Given the description of an element on the screen output the (x, y) to click on. 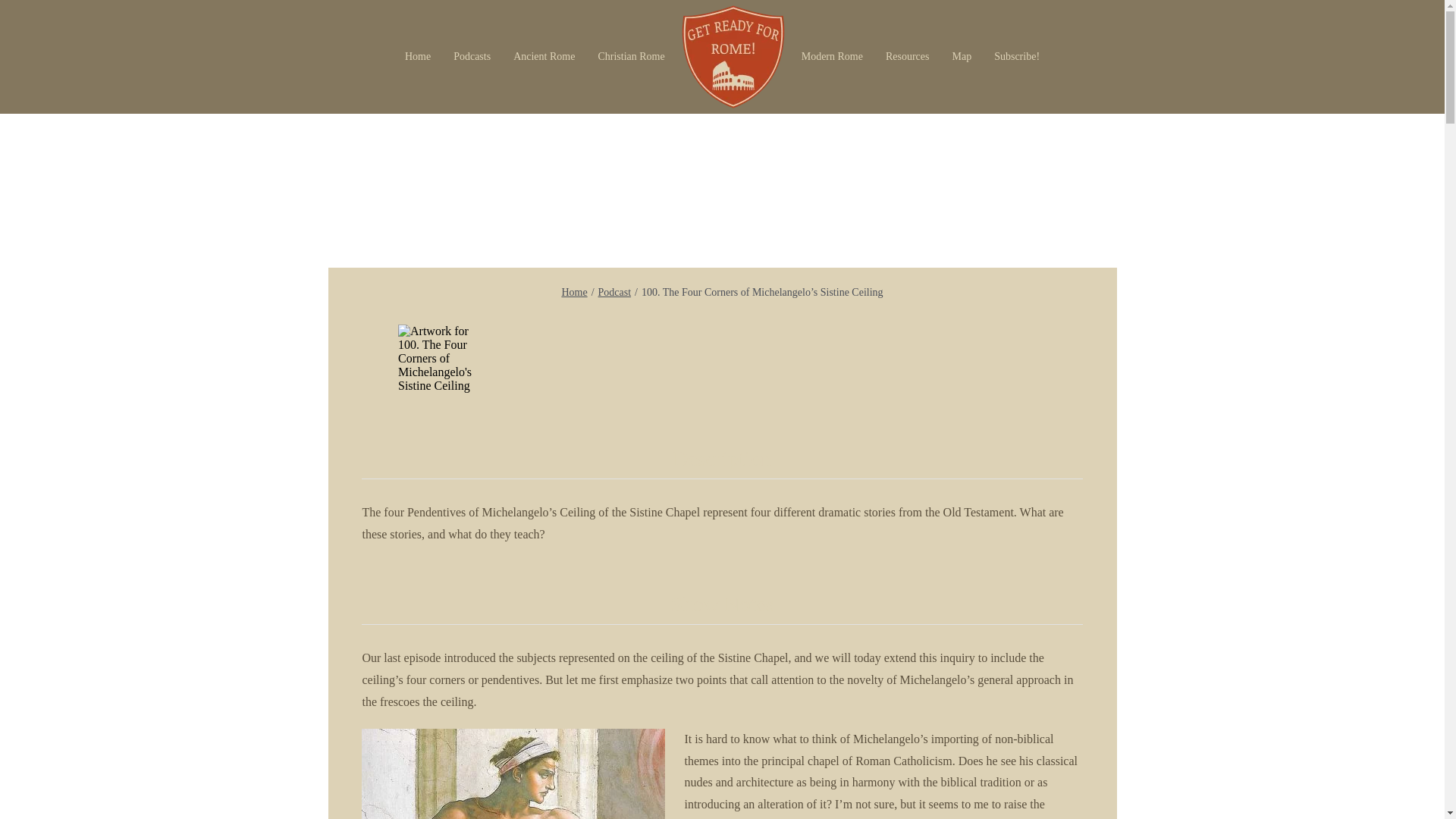
Map (961, 56)
Libsyn Player (721, 358)
Subscribe! (1016, 56)
Resources (907, 56)
Christian Rome (630, 56)
Home (417, 56)
Ancient Rome (544, 56)
Modern Rome (832, 56)
Podcasts (472, 56)
